Given the description of an element on the screen output the (x, y) to click on. 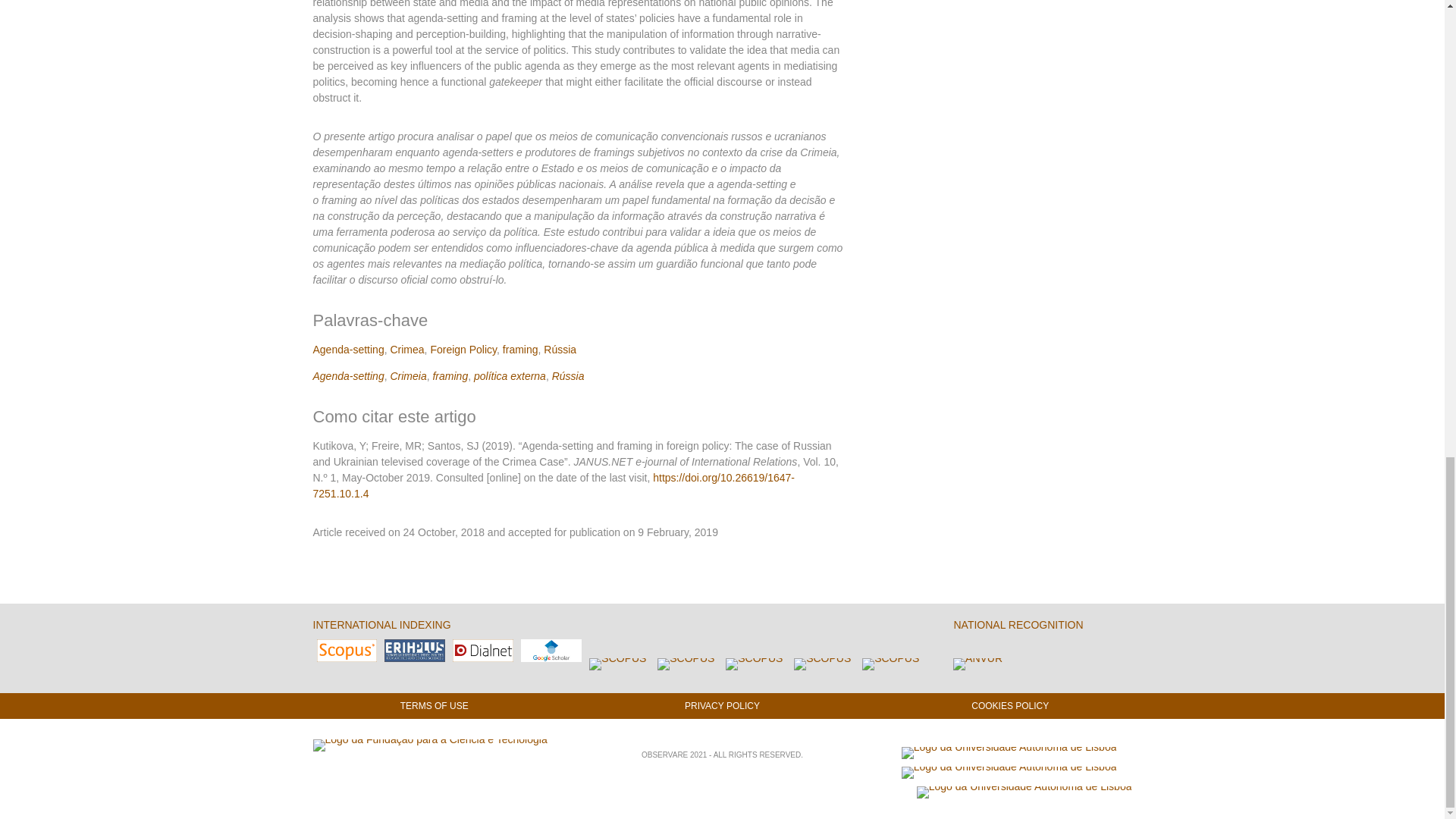
framing (520, 349)
scholar (550, 650)
framing (449, 376)
Foreign Policy (462, 349)
erih (414, 650)
Crimea (406, 349)
reda (821, 664)
doaj (686, 664)
anvur (978, 664)
dial (482, 650)
Agenda-setting (348, 376)
redib (617, 664)
SCOPUS (347, 650)
ebsco (889, 664)
Agenda-setting (348, 349)
